Given the description of an element on the screen output the (x, y) to click on. 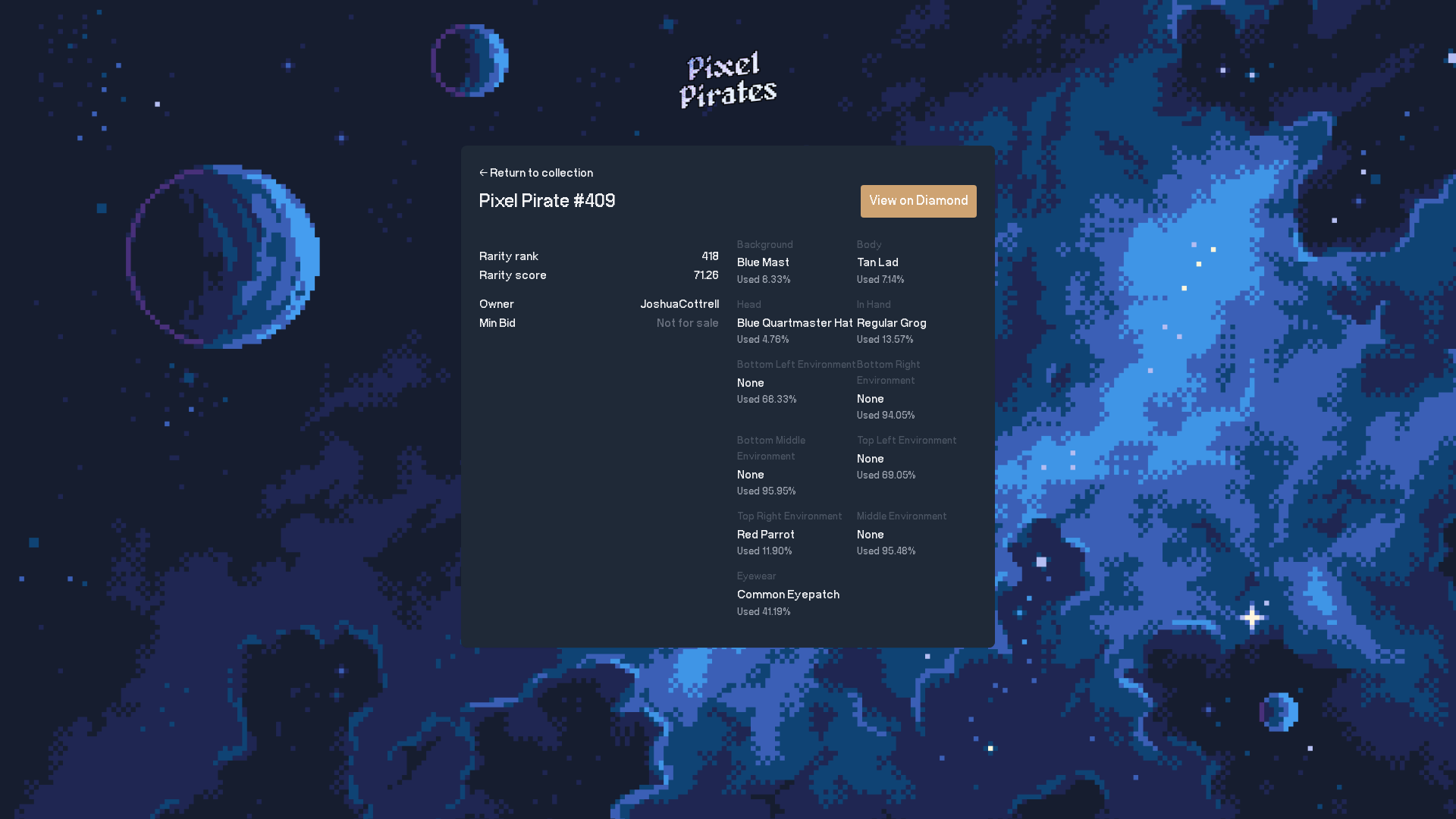
JoshuaCottrell Element type: text (679, 304)
View on Diamond Element type: text (918, 201)
